Given the description of an element on the screen output the (x, y) to click on. 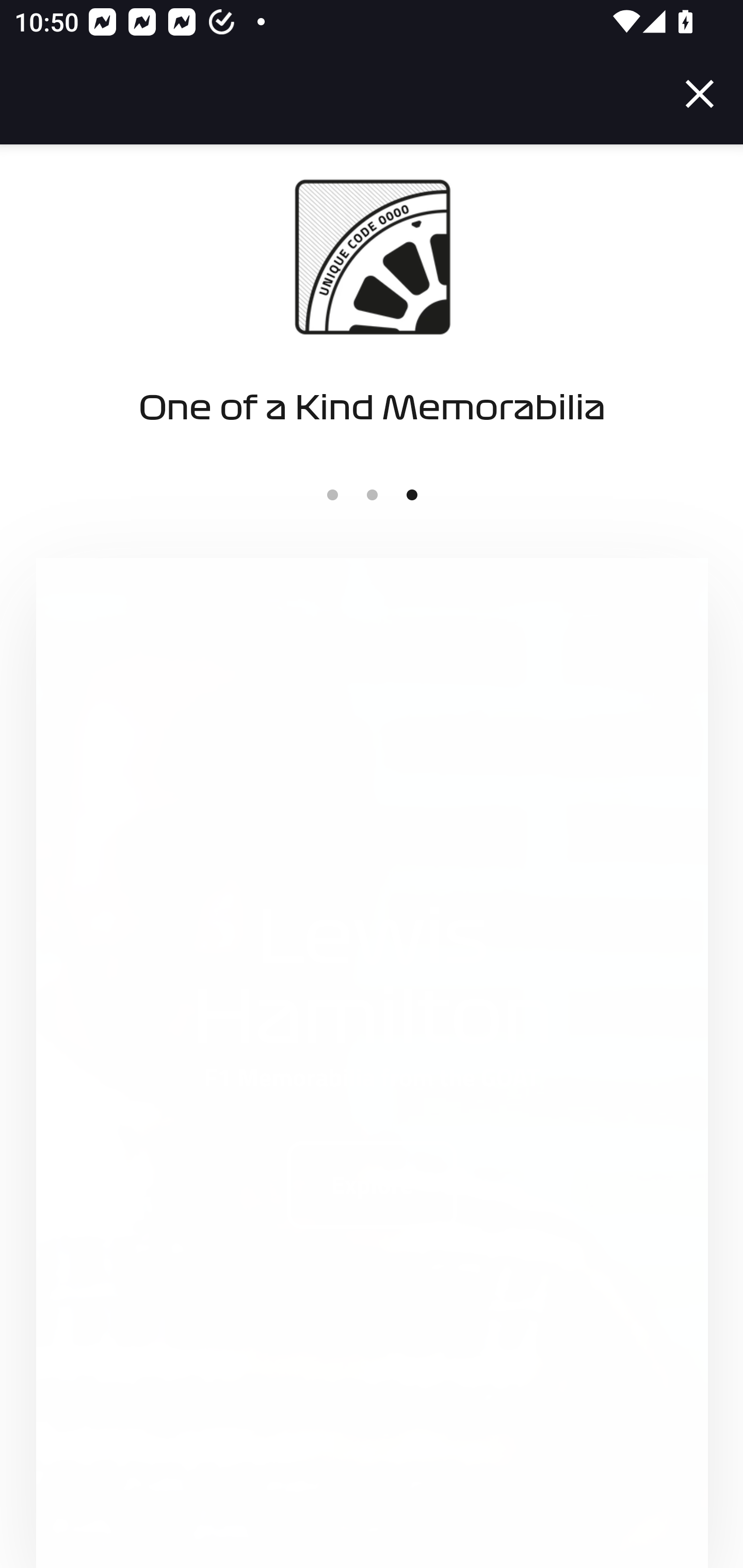
Close (699, 93)
Go to item 1 (332, 495)
Go to item 2 (371, 495)
Go to item 3 (411, 495)
